Given the description of an element on the screen output the (x, y) to click on. 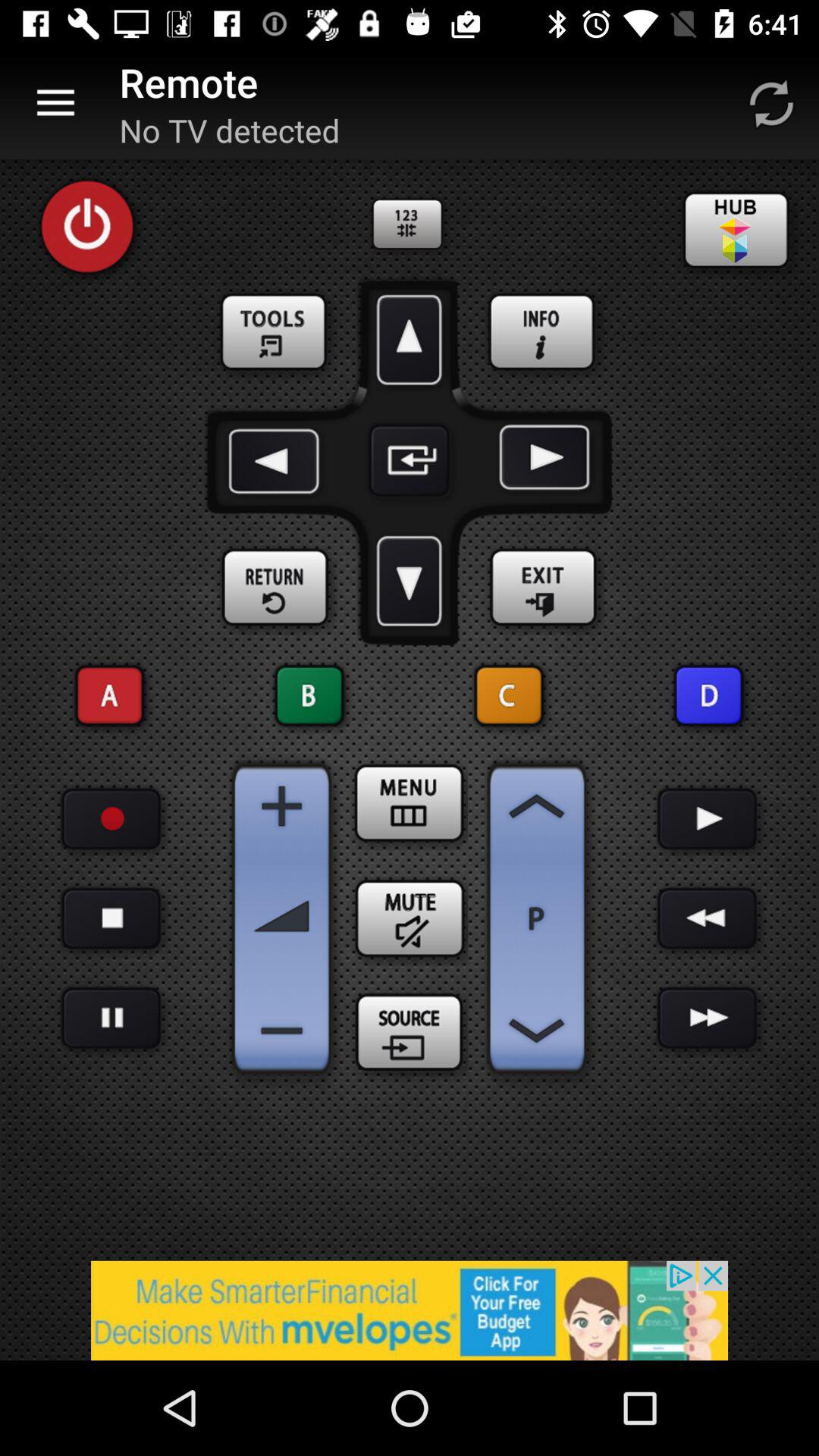
go to mute option (409, 918)
